Given the description of an element on the screen output the (x, y) to click on. 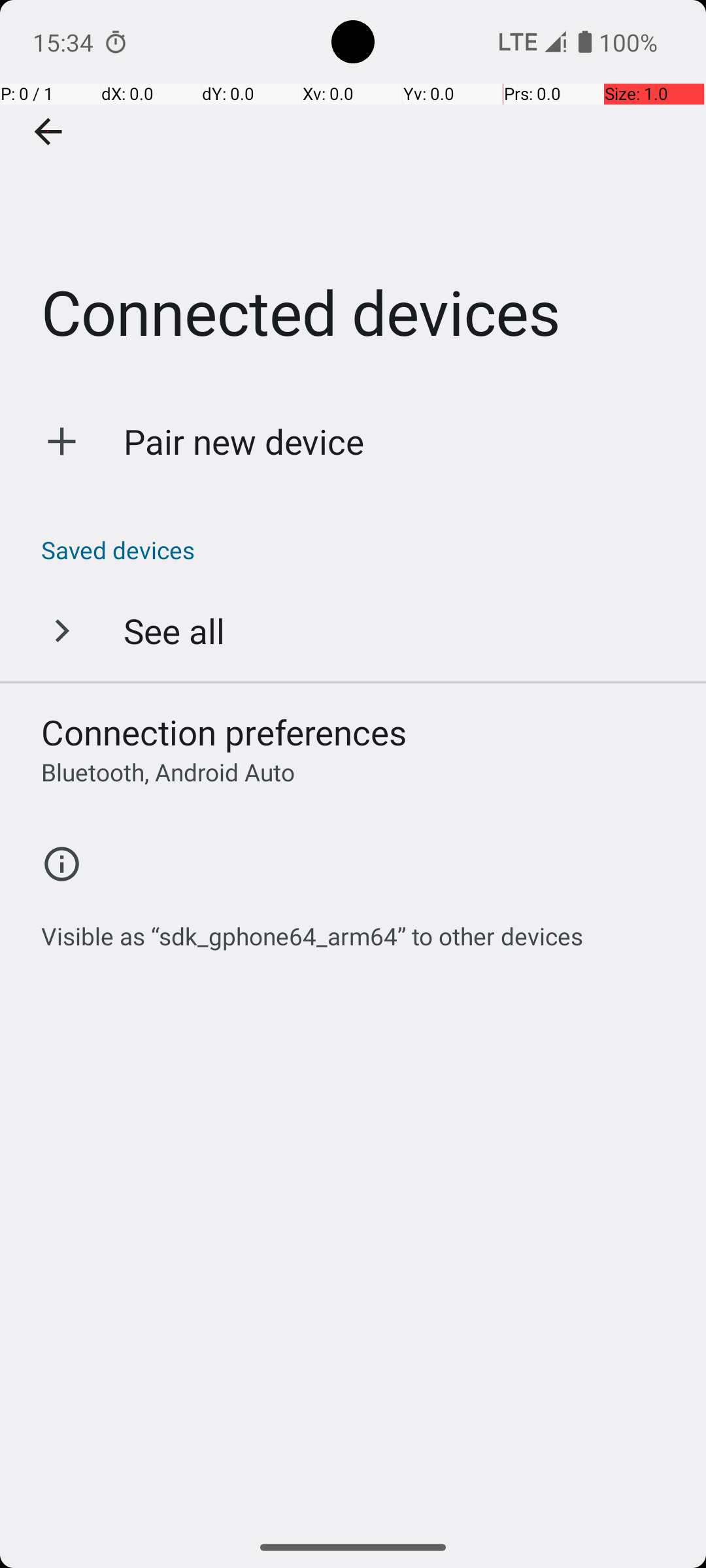
Pair new device Element type: android.widget.TextView (243, 441)
Saved devices Element type: android.widget.TextView (359, 549)
See all Element type: android.widget.TextView (173, 630)
Connection preferences Element type: android.widget.TextView (224, 731)
Bluetooth, Android Auto Element type: android.widget.TextView (167, 771)
Visible as “sdk_gphone64_arm64” to other devices Element type: android.widget.TextView (312, 928)
